Given the description of an element on the screen output the (x, y) to click on. 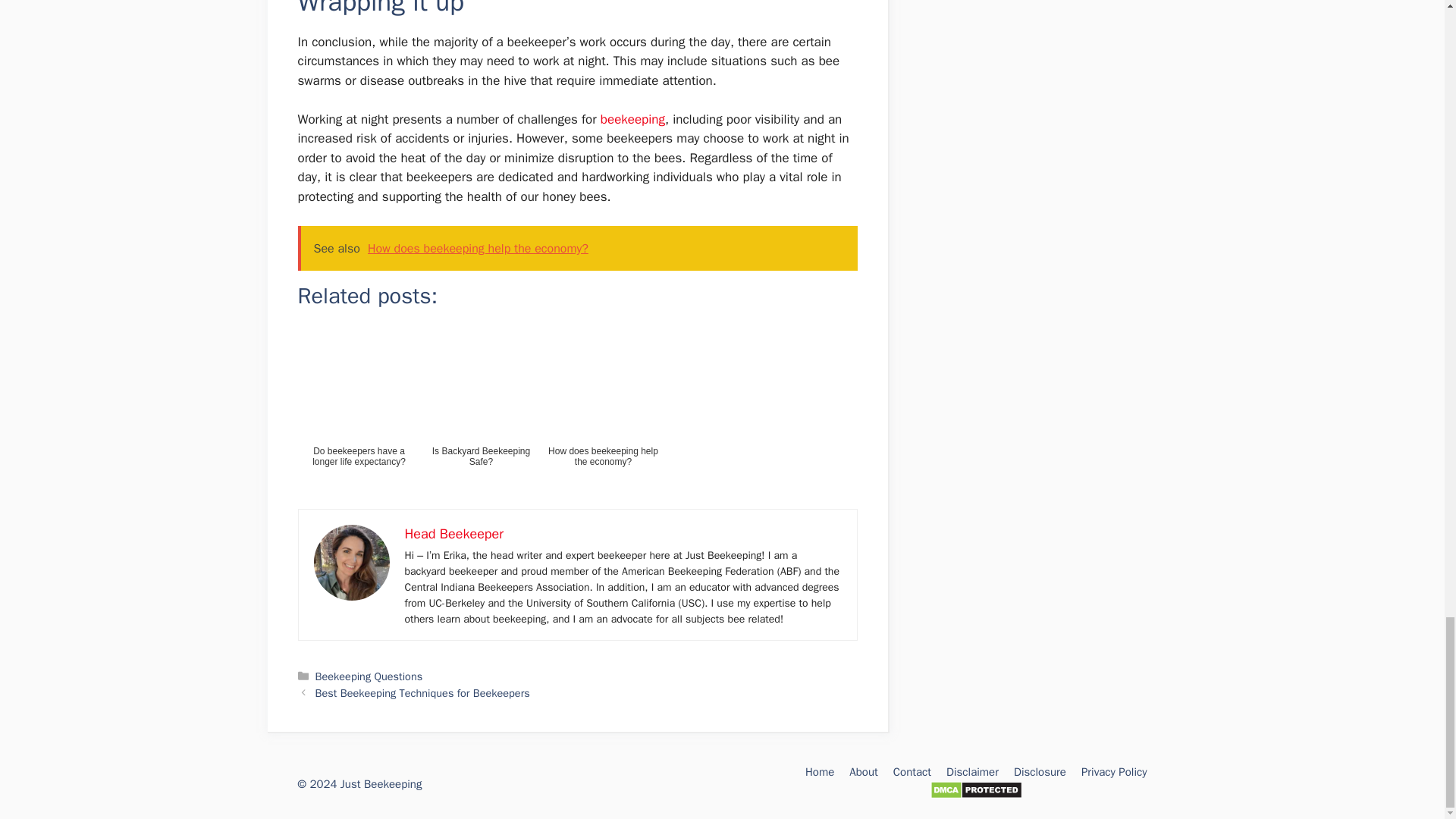
See also  How does beekeeping help the economy? (577, 248)
Best Beekeeping Techniques for Beekeepers (422, 693)
Head Beekeeper (453, 533)
Do beekeepers have a longer life expectancy? (358, 415)
beekeeping (632, 119)
DMCA.com Protection Status (976, 795)
How does beekeeping help the economy? (602, 415)
Beekeeping Questions (369, 676)
Is Backyard Beekeeping Safe? (481, 415)
